Given the description of an element on the screen output the (x, y) to click on. 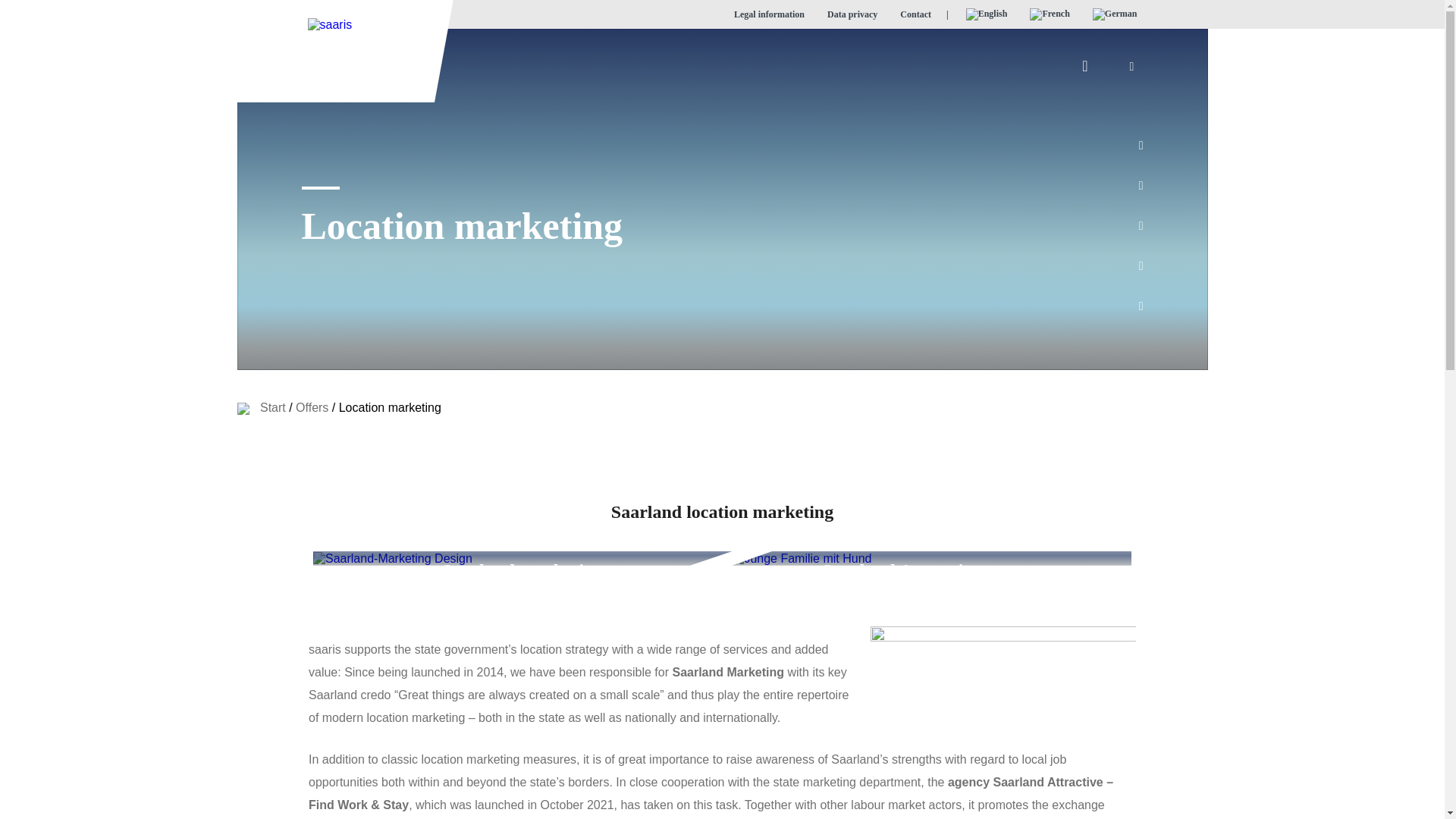
Saarland-Marketing Design (392, 558)
Junge Familie mit Hund (801, 558)
saaris (329, 23)
